Given the description of an element on the screen output the (x, y) to click on. 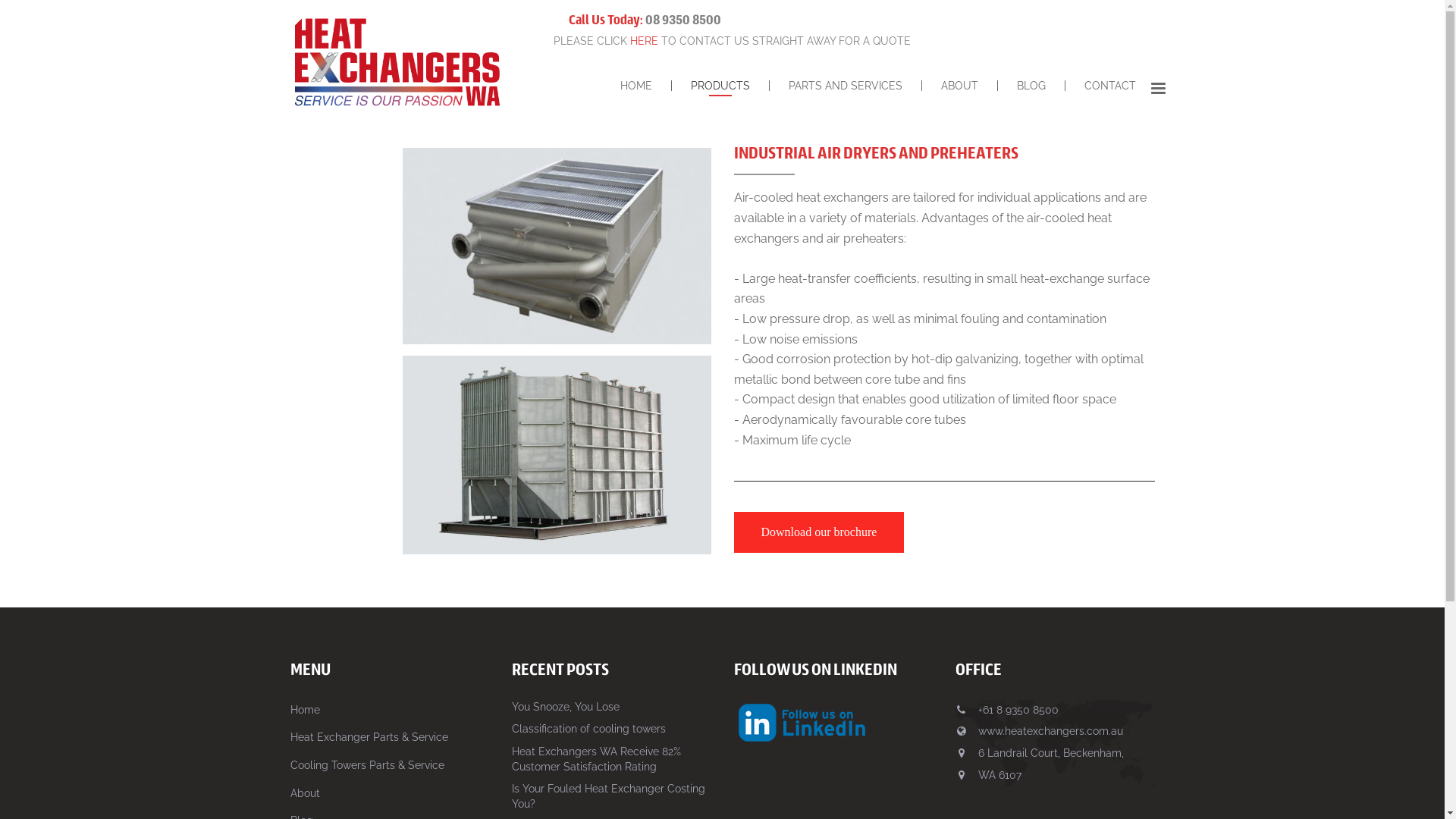
Heat Exchangers WA Receive 82% Customer Satisfaction Rating Element type: text (595, 758)
PRODUCTS Element type: text (720, 85)
08 9350 8500 Element type: text (683, 19)
+61 8 9350 8500 Element type: text (1018, 709)
Heat Exchanger Parts & Service Element type: text (368, 737)
www.heatexchangers.com.au Element type: text (1050, 730)
ABOUT Element type: text (959, 85)
PARTS AND SERVICES Element type: text (844, 85)
BLOG Element type: text (1031, 85)
Cooling Towers Parts & Service Element type: text (366, 765)
Industrial Air Dryers and Preheaters Element type: hover (555, 245)
Home Element type: text (304, 709)
PLEASE CLICK HERE TO CONTACT US STRAIGHT AWAY FOR A QUOTE Element type: text (731, 40)
Linkedin Element type: hover (802, 722)
CONTACT Element type: text (1109, 85)
Download our brochure Element type: text (819, 531)
HOME Element type: text (635, 85)
Classification of cooling towers Element type: text (588, 728)
About Element type: text (304, 793)
You Snooze, You Lose Element type: text (565, 706)
Is Your Fouled Heat Exchanger Costing You? Element type: text (608, 795)
Industrial Air Dryers and Preheaters Element type: hover (555, 454)
